Given the description of an element on the screen output the (x, y) to click on. 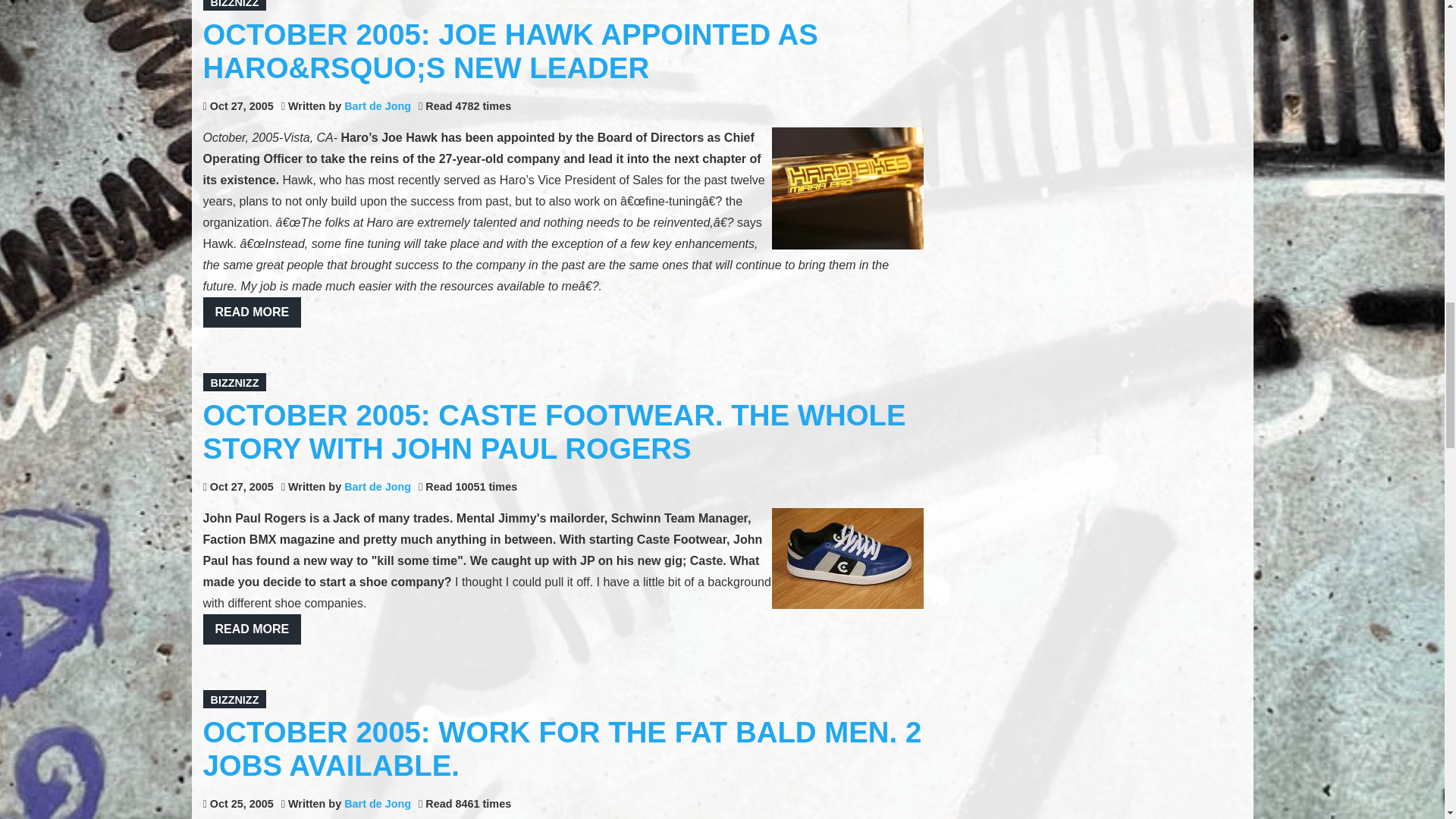
Joe Hawk HARO president (847, 188)
Caste Zellwood (847, 558)
